Given the description of an element on the screen output the (x, y) to click on. 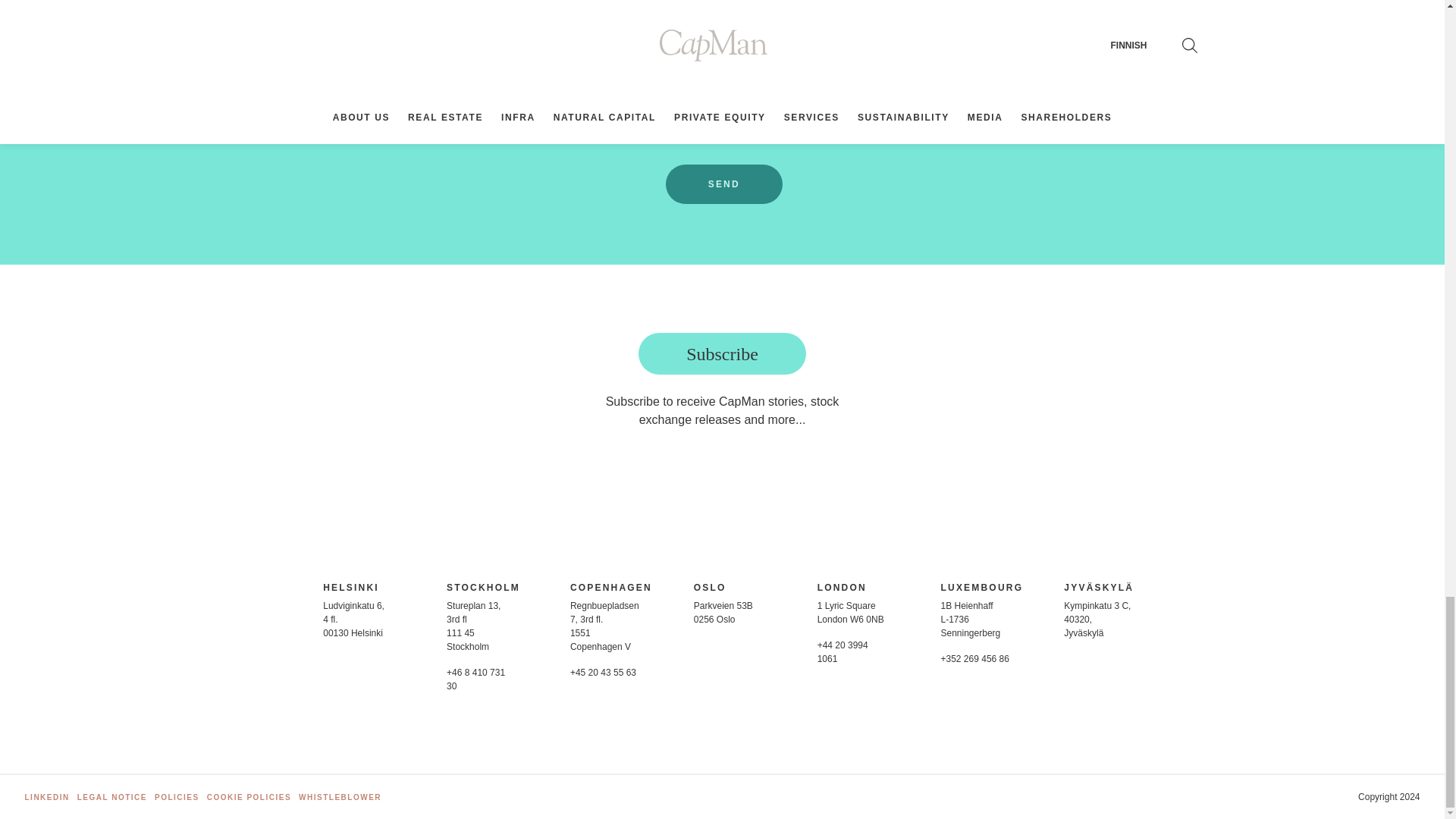
Send (724, 183)
